Given the description of an element on the screen output the (x, y) to click on. 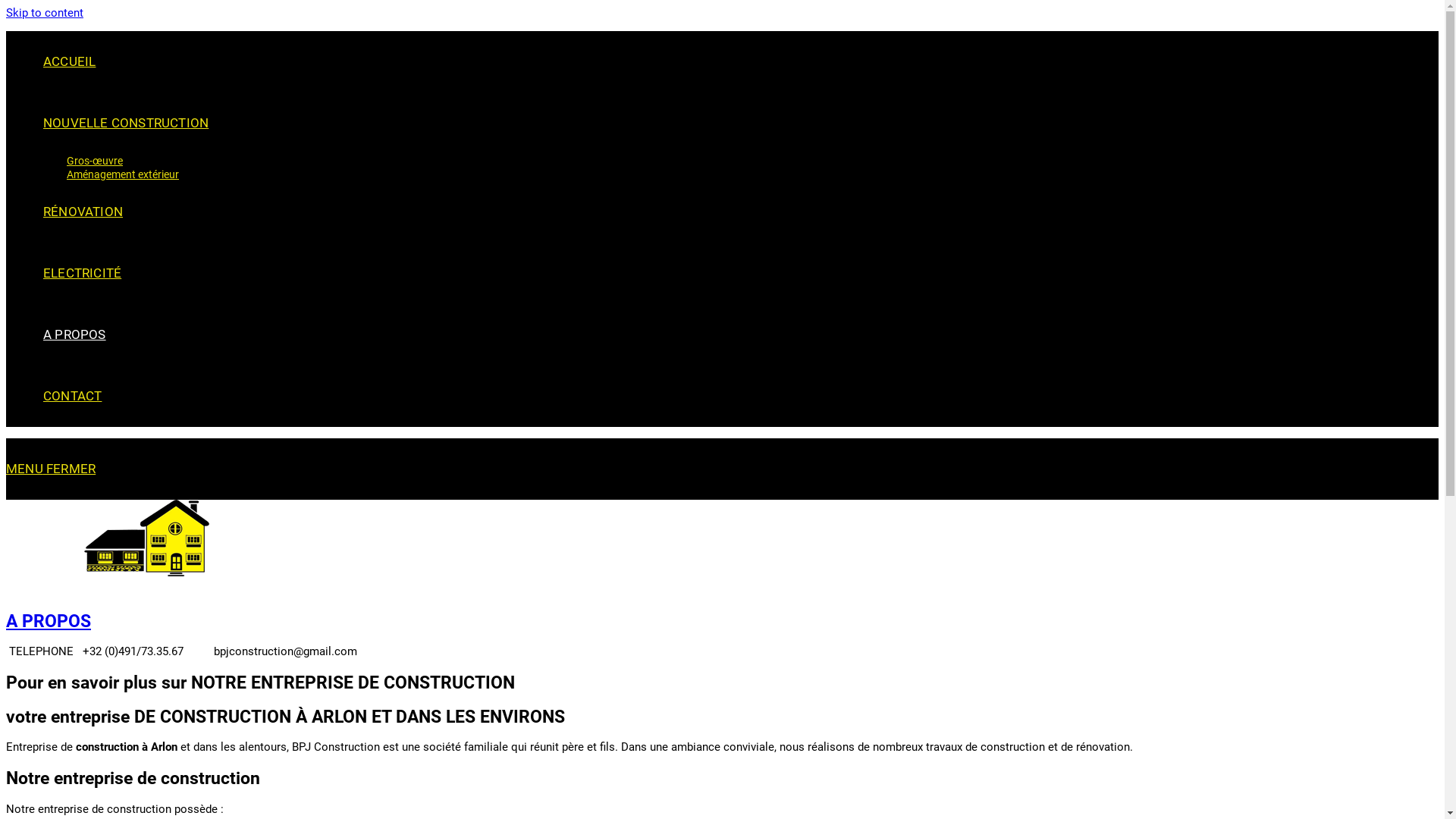
NOUVELLE CONSTRUCTION Element type: text (125, 122)
CONTACT Element type: text (72, 395)
A PROPOS Element type: text (48, 620)
Skip to content Element type: text (44, 12)
A PROPOS Element type: text (74, 334)
MENU FERMER Element type: text (50, 468)
ACCUEIL Element type: text (69, 61)
